Given the description of an element on the screen output the (x, y) to click on. 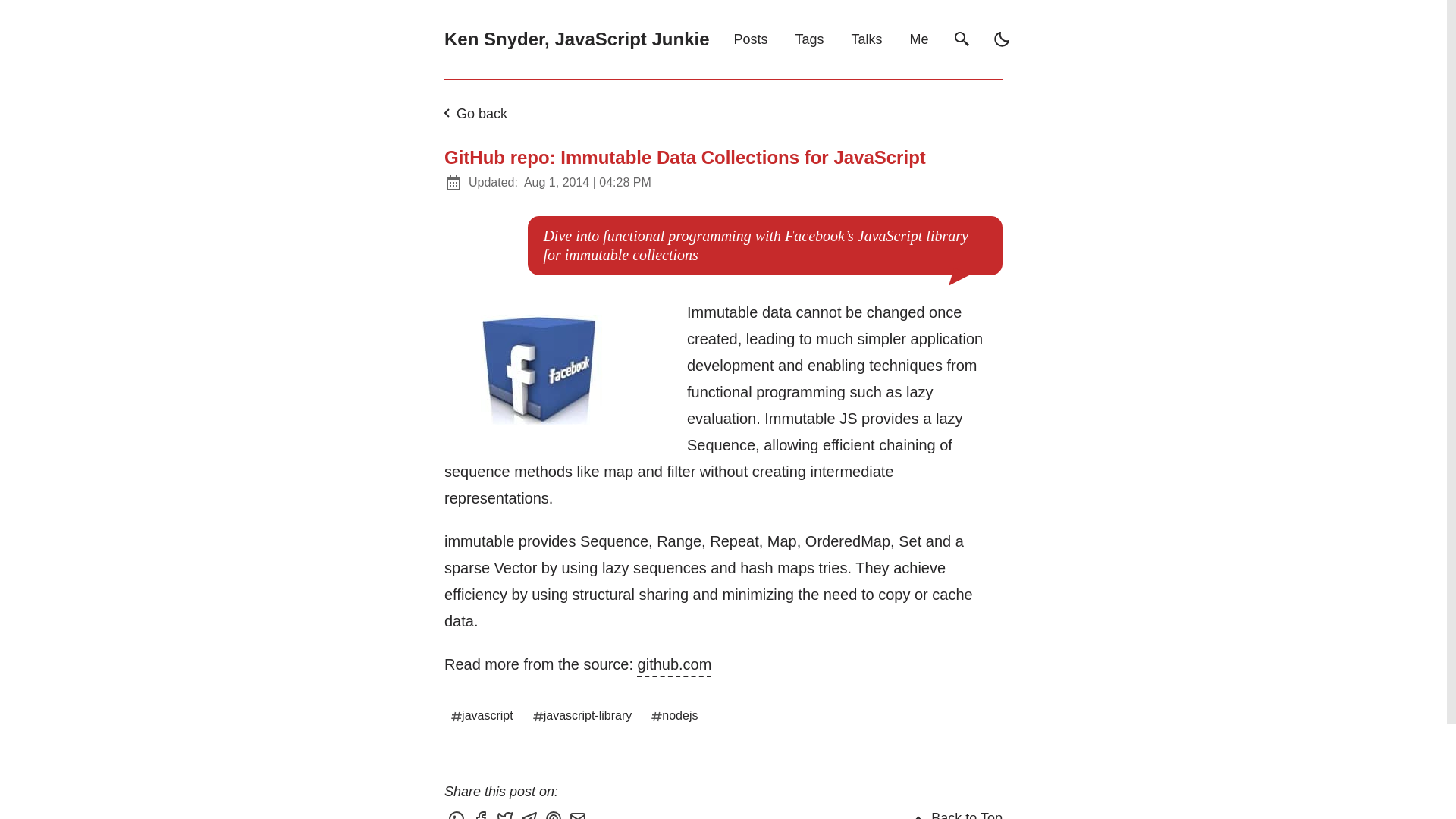
Share this post on Facebook (482, 812)
nodejs (675, 715)
Ken Snyder, JavaScript Junkie (577, 39)
Talks (866, 38)
Share this post on Pinterest (555, 812)
Back to Top (955, 812)
Tweet this post (506, 812)
Posts (751, 38)
Share this post via email (579, 812)
Share this post via email (579, 812)
Share this post via Telegram (530, 812)
Share this post on Facebook (482, 812)
Share this post via WhatsApp (457, 812)
Tags (809, 38)
Share this post via Telegram (530, 812)
